Given the description of an element on the screen output the (x, y) to click on. 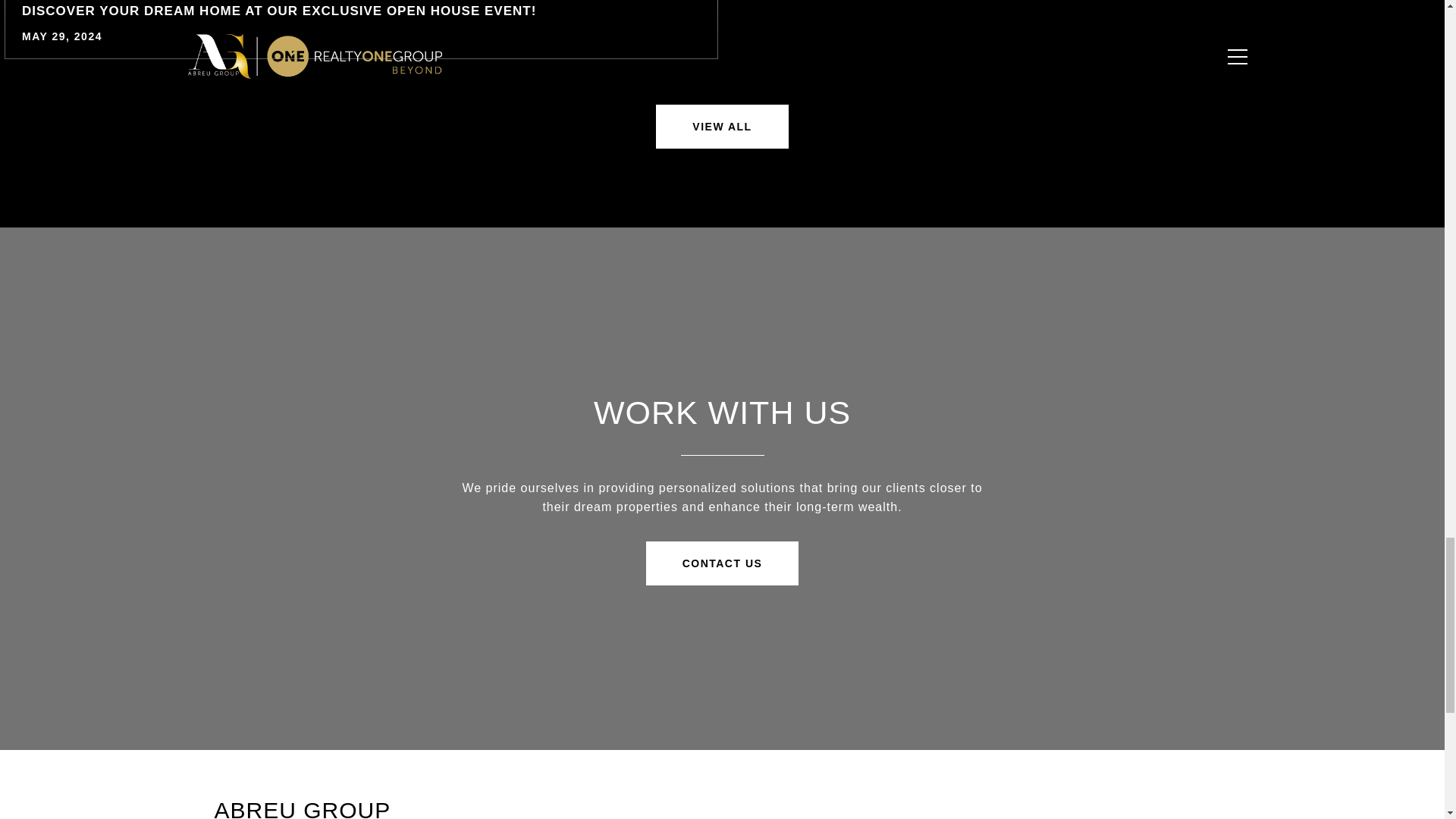
CONTACT US (722, 563)
VIEW ALL (721, 126)
